Given the description of an element on the screen output the (x, y) to click on. 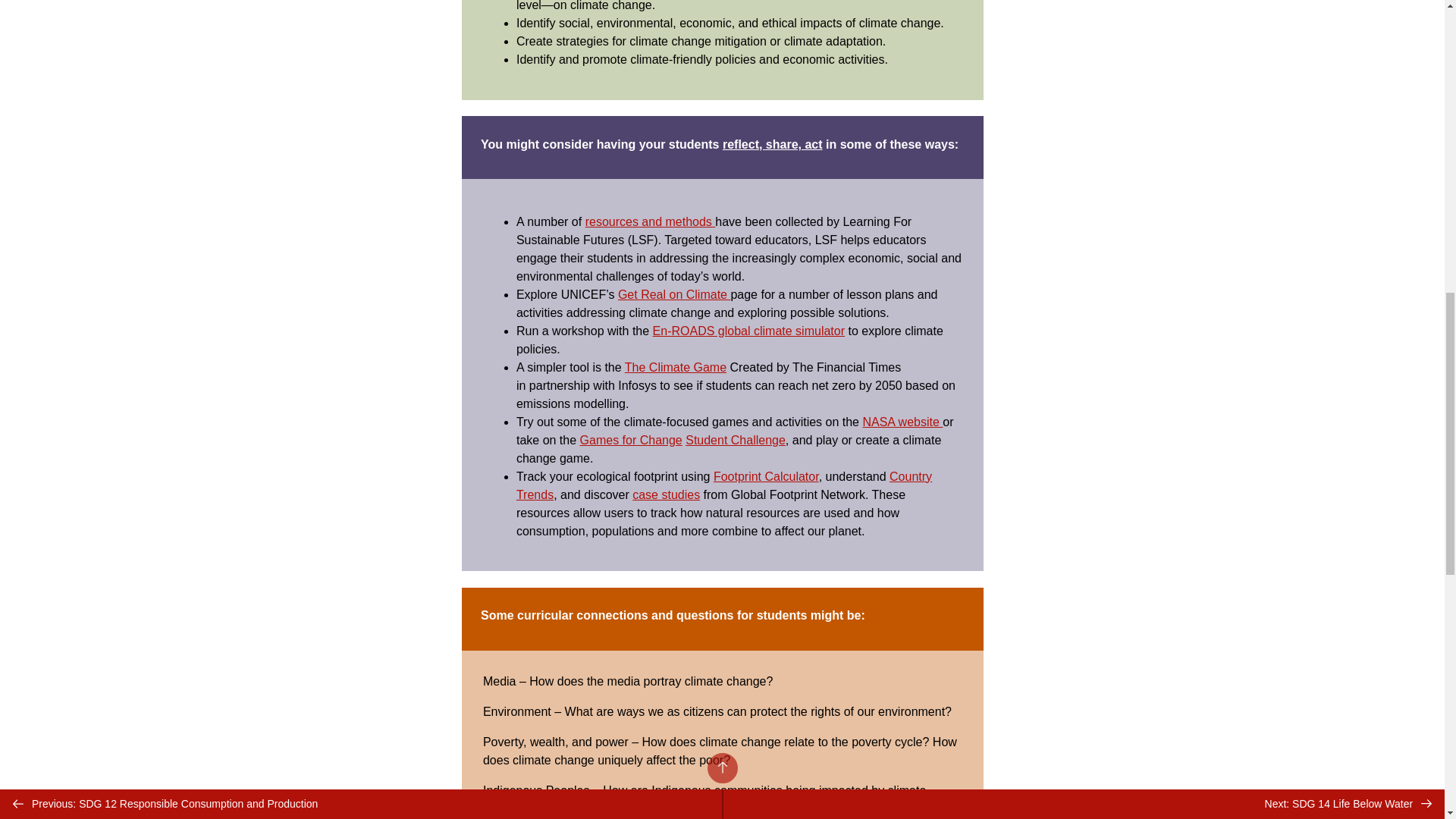
reflect, share, act (772, 144)
Student Challenge (735, 440)
Country Trends (723, 485)
case studies (665, 494)
NASA website (901, 421)
Get Real on Climate (673, 294)
En-ROADS global climate simulator (748, 330)
Games for Change (630, 440)
resources and methods (650, 221)
Footprint Calculator (765, 476)
